Given the description of an element on the screen output the (x, y) to click on. 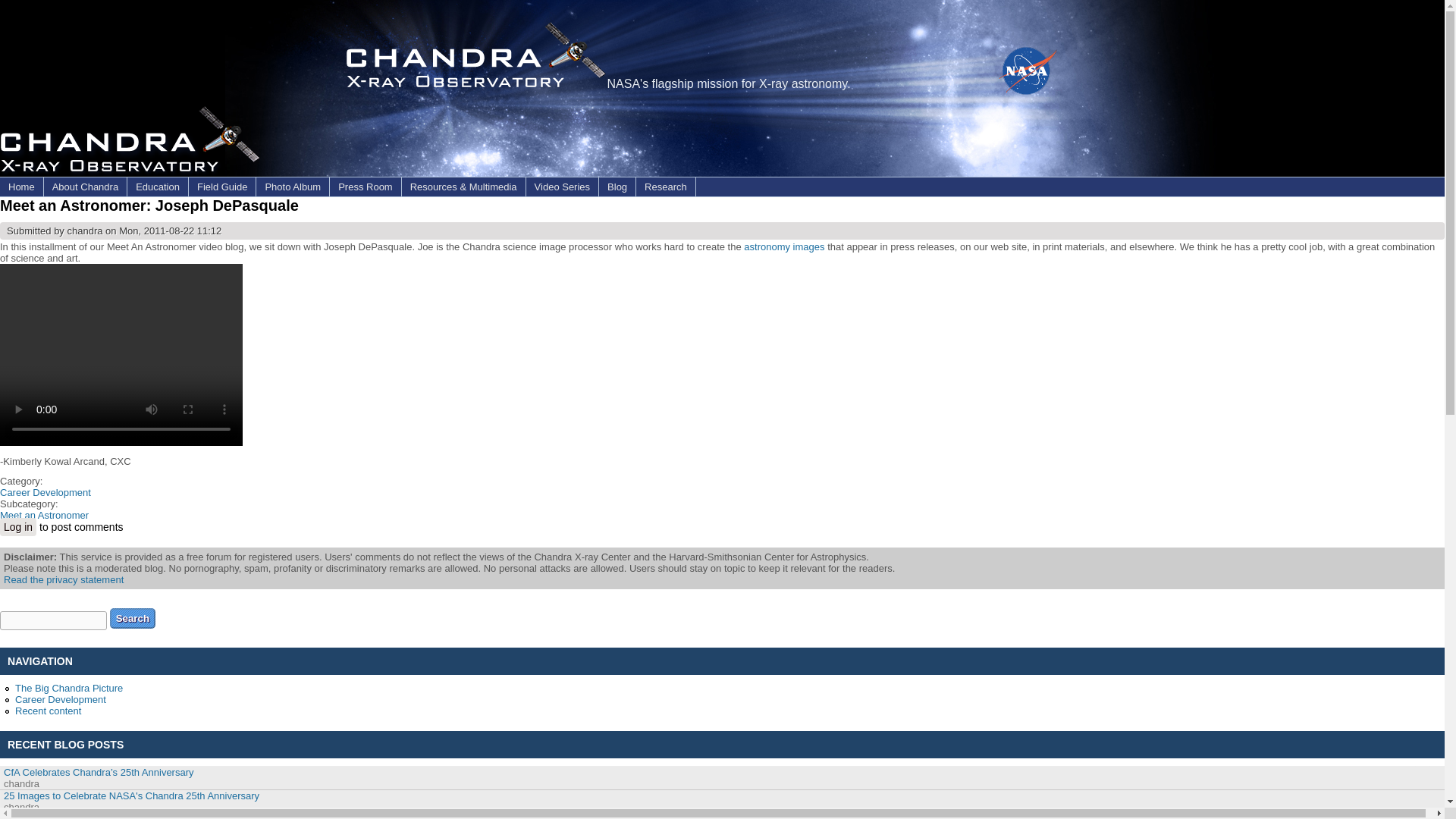
Log in (18, 526)
25 Images to Celebrate NASA's Chandra 25th Anniversary (131, 795)
Meet an Astronomer (44, 514)
Blog (616, 186)
Field Guide (222, 186)
Video Series (561, 186)
Press Room (365, 186)
Photo Album (292, 186)
Recent content (47, 710)
The Big Chandra Picture (68, 687)
